Given the description of an element on the screen output the (x, y) to click on. 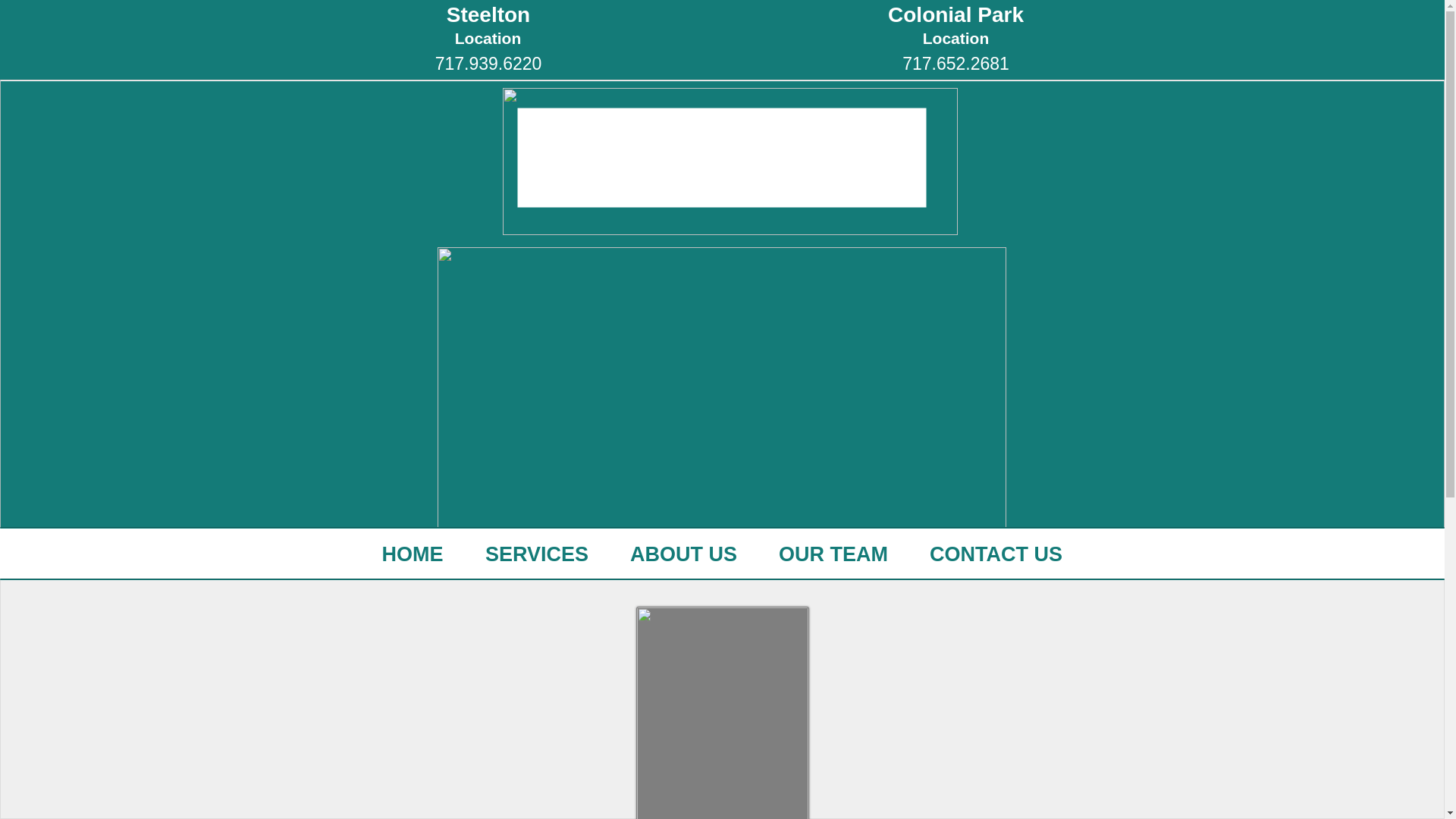
ABOUT US (684, 554)
HOME (412, 554)
OUR TEAM (833, 554)
CONTACT US (995, 554)
Colonial Park (955, 14)
SERVICES (536, 554)
717.939.6220 (488, 63)
717.652.2681 (955, 63)
Steelton (487, 14)
